Given the description of an element on the screen output the (x, y) to click on. 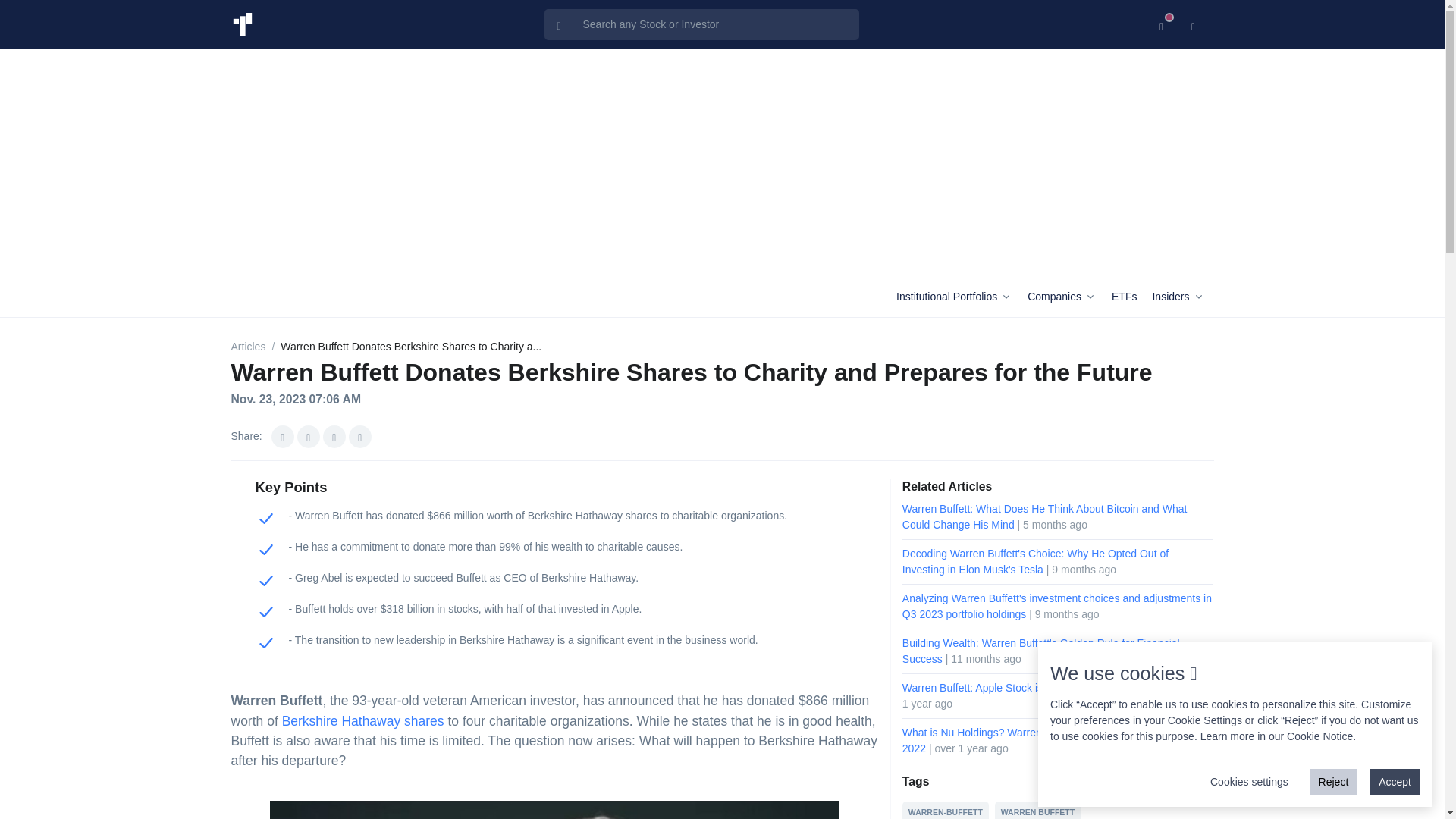
Institutional Portfolios (959, 296)
TickerTracker.io (241, 24)
Companies (1066, 296)
